Given the description of an element on the screen output the (x, y) to click on. 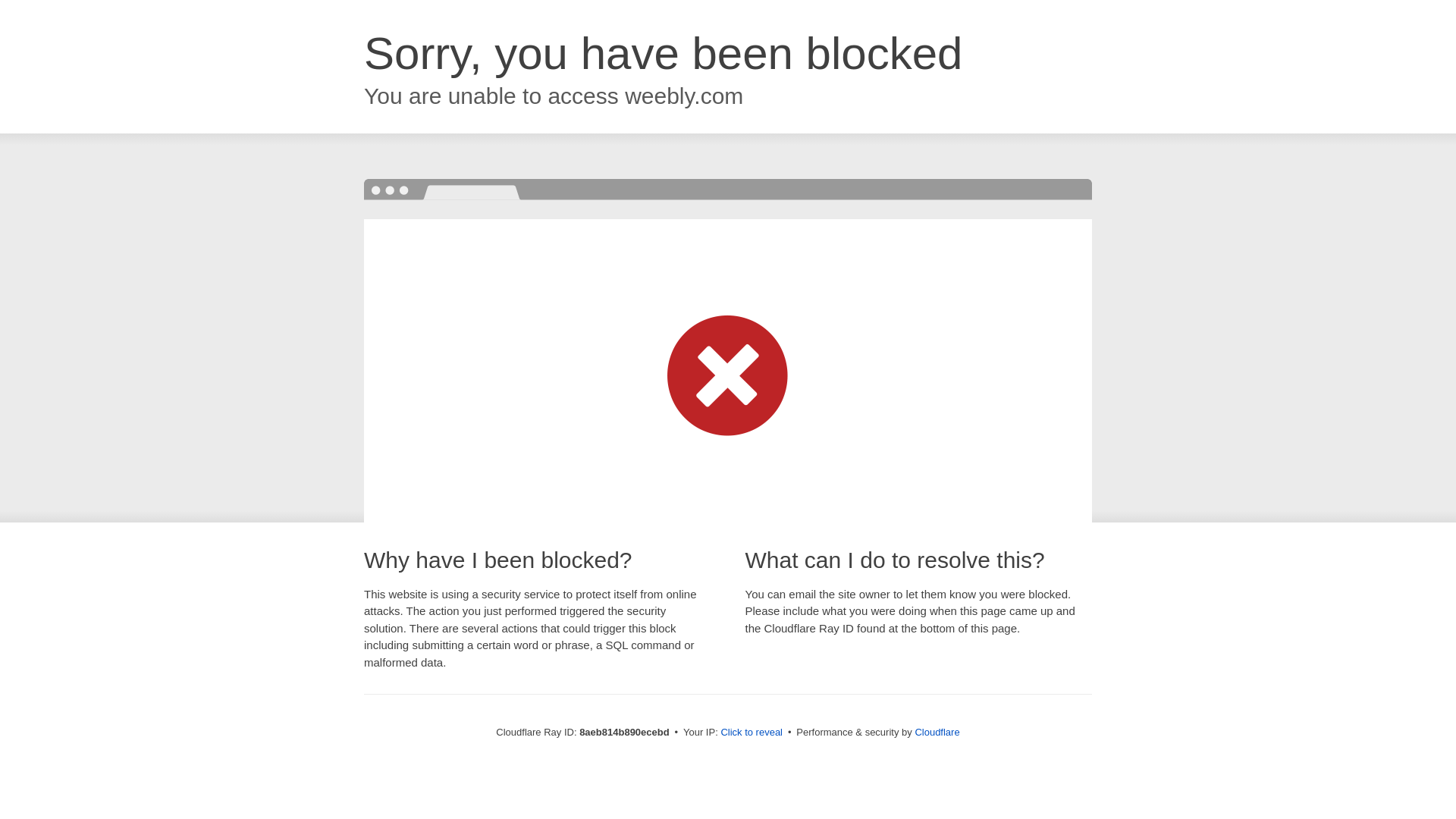
Cloudflare (936, 731)
Click to reveal (751, 732)
